Given the description of an element on the screen output the (x, y) to click on. 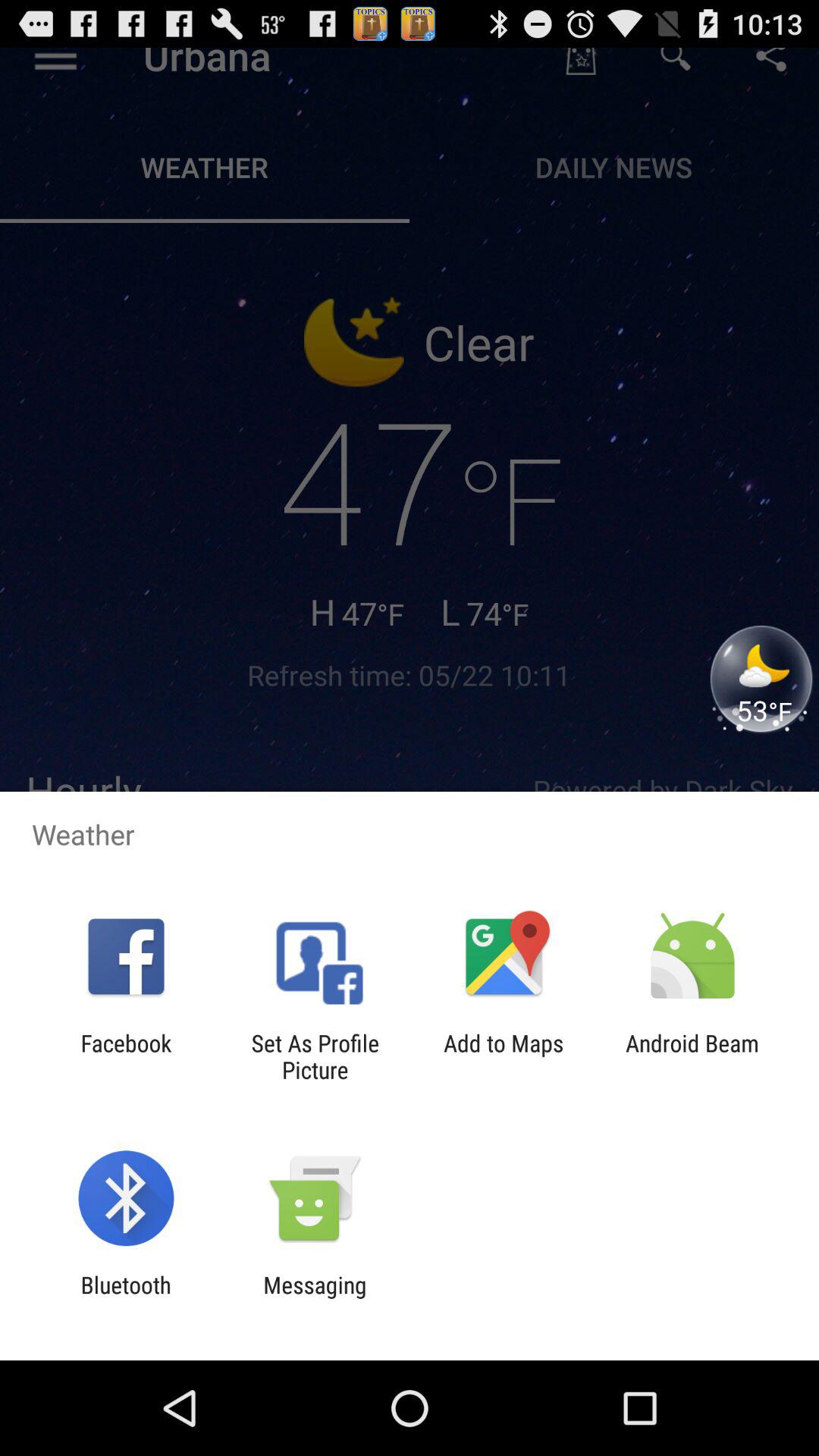
jump until set as profile (314, 1056)
